Given the description of an element on the screen output the (x, y) to click on. 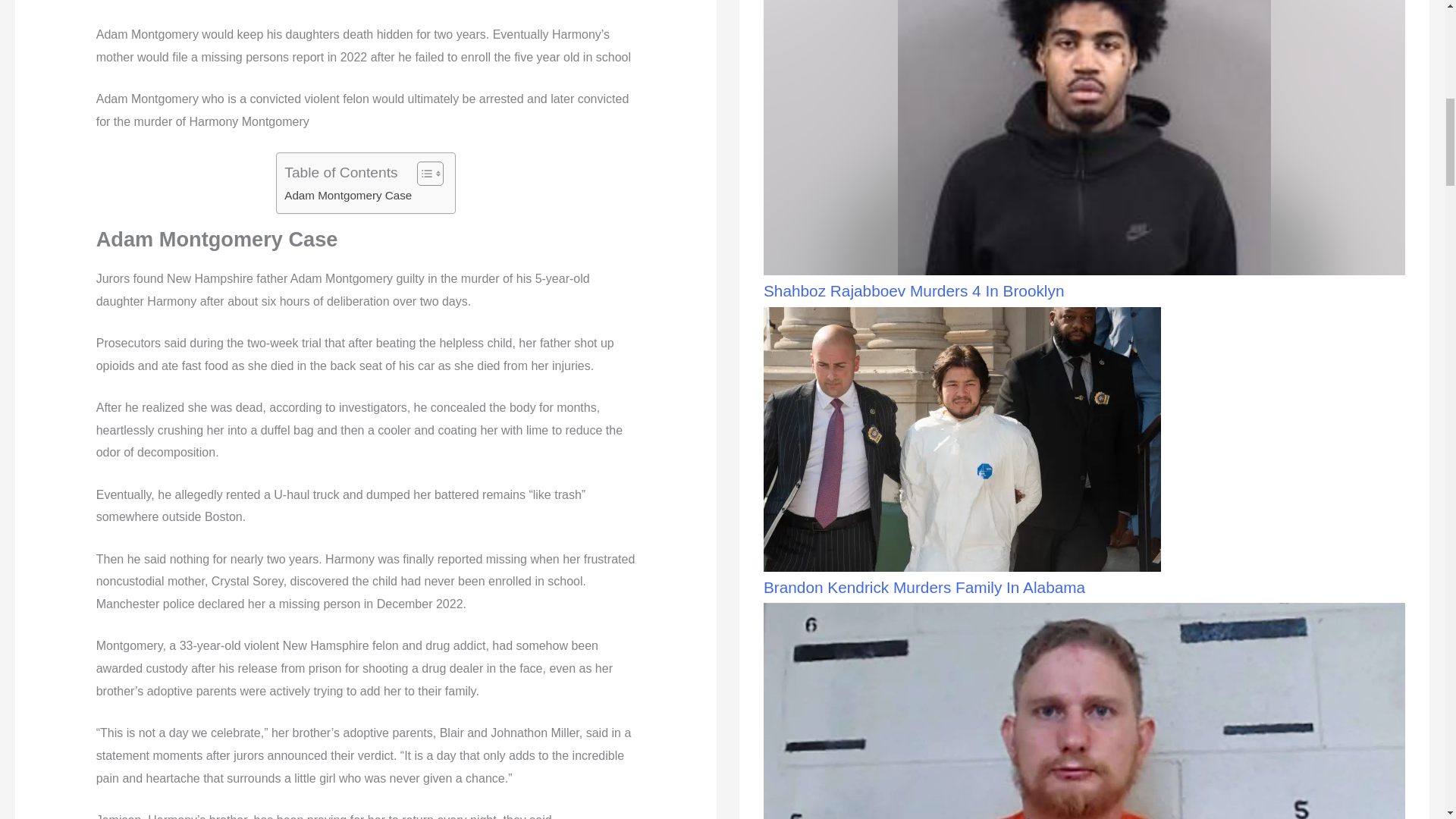
Adam Montgomery Case (347, 195)
